Given the description of an element on the screen output the (x, y) to click on. 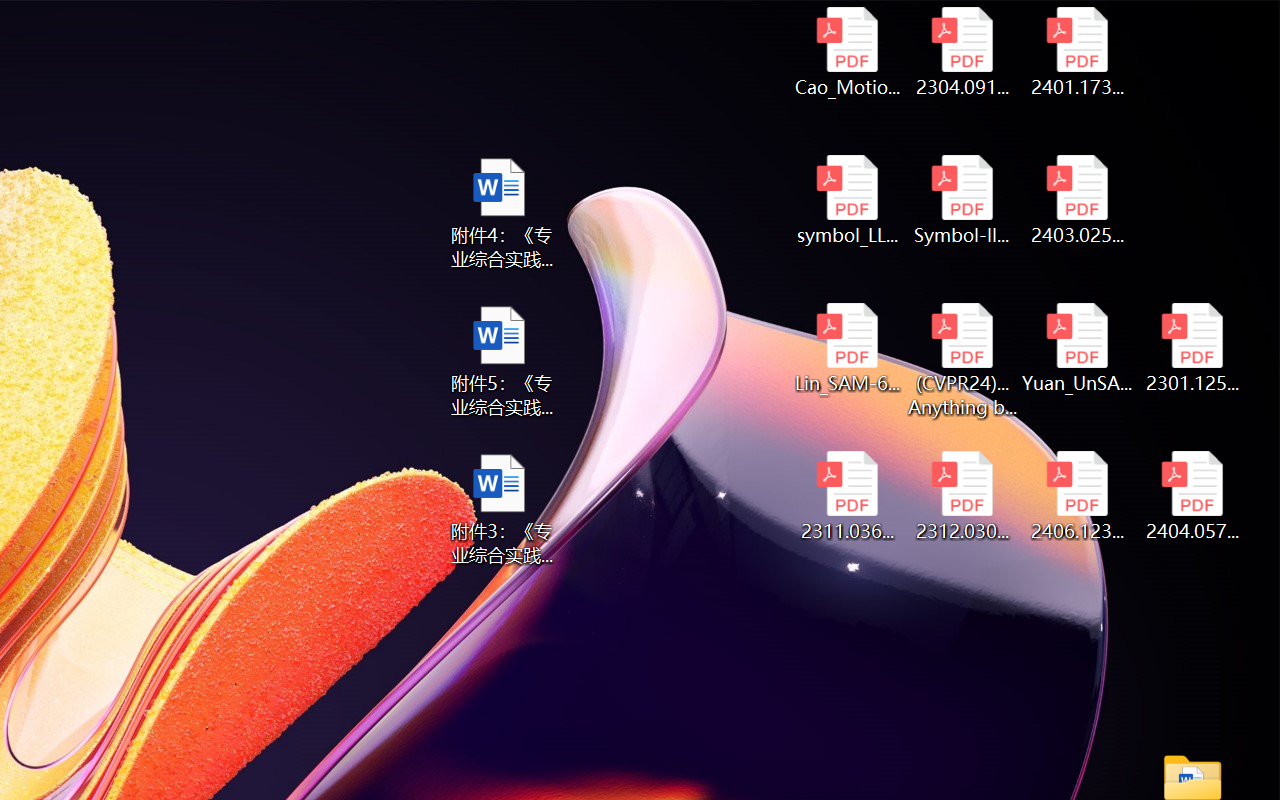
2312.03032v2.pdf (962, 496)
2304.09121v3.pdf (962, 52)
2406.12373v2.pdf (1077, 496)
Symbol-llm-v2.pdf (962, 200)
2311.03658v2.pdf (846, 496)
2403.02502v1.pdf (1077, 200)
2301.12597v3.pdf (1192, 348)
symbol_LLM.pdf (846, 200)
(CVPR24)Matching Anything by Segmenting Anything.pdf (962, 360)
2401.17399v1.pdf (1077, 52)
